Given the description of an element on the screen output the (x, y) to click on. 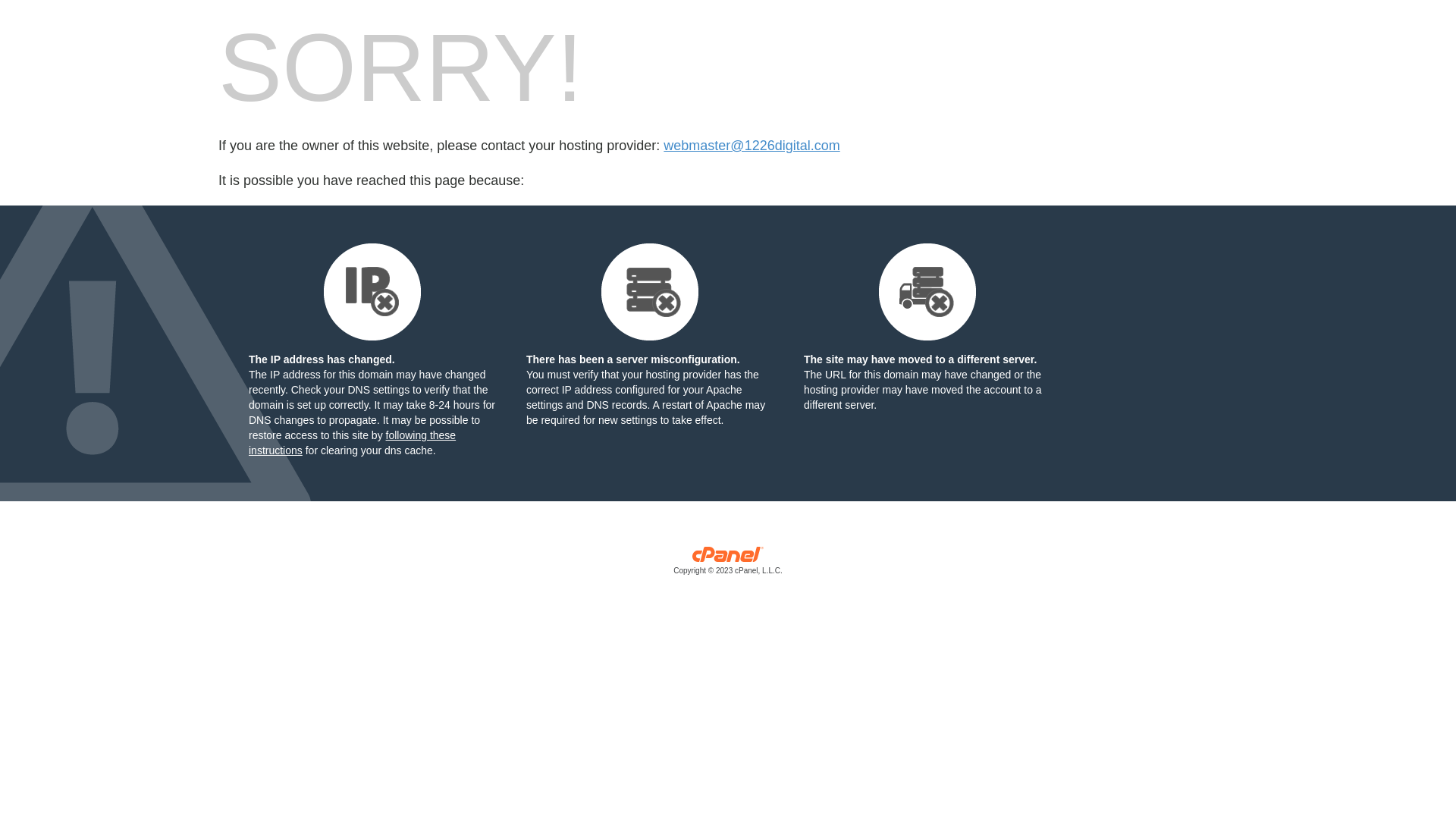
webmaster@1226digital.com Element type: text (751, 145)
following these instructions Element type: text (351, 442)
